Given the description of an element on the screen output the (x, y) to click on. 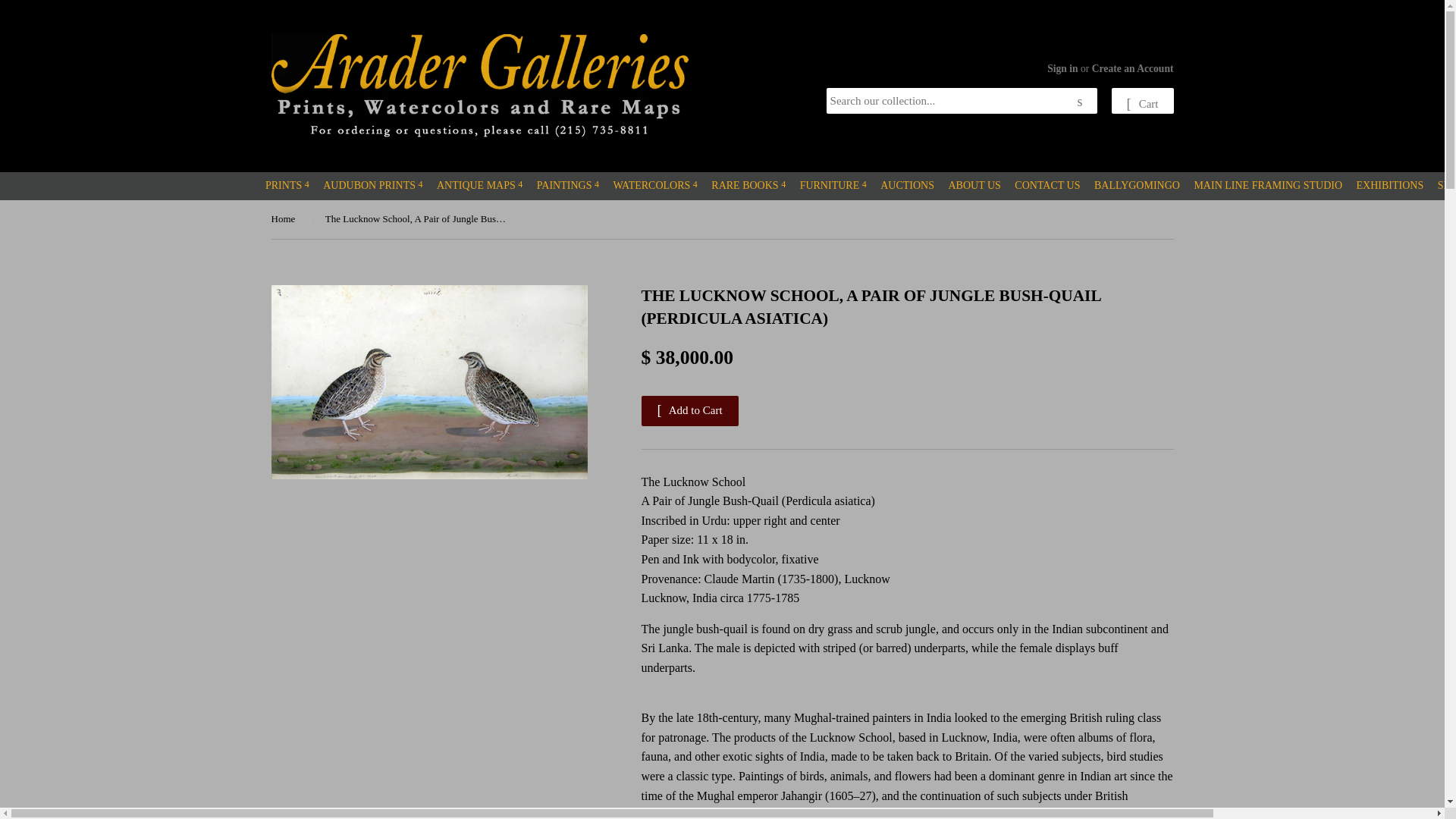
Sign in (1061, 68)
AUDUBON PRINTS (372, 185)
Search (1079, 101)
Create an Account (1132, 68)
Cart (1142, 100)
ANTIQUE MAPS (478, 185)
PRINTS (286, 185)
